Given the description of an element on the screen output the (x, y) to click on. 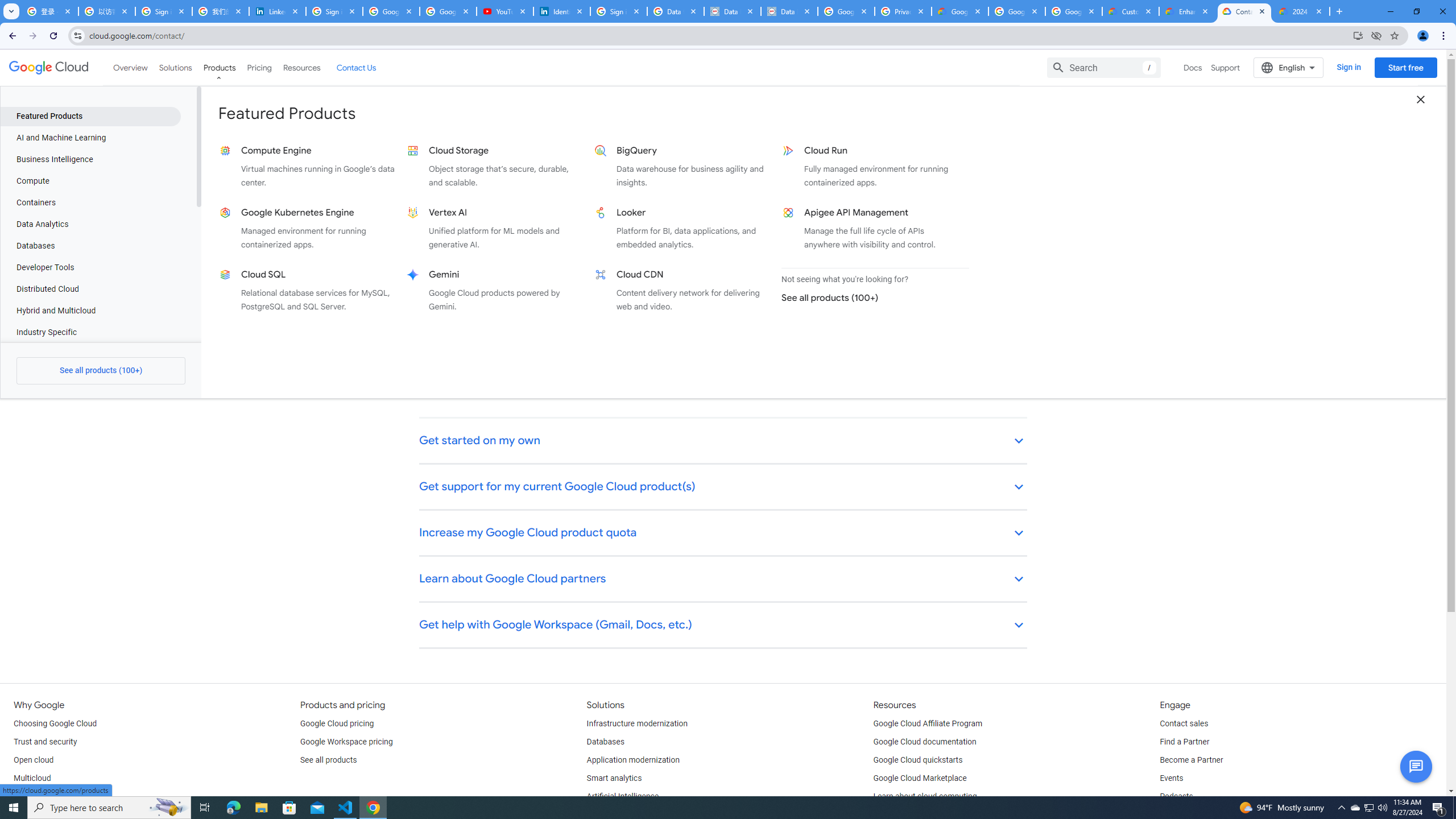
Install Google Cloud (1358, 35)
Data Analytics (90, 224)
Vertex AI Unified platform for ML models and generative AI. (495, 228)
Smart analytics (614, 778)
Docs (1192, 67)
Data Privacy Framework (731, 11)
Find a Google Cloud partner (475, 387)
See all products (100+) (870, 297)
Choosing Google Cloud (55, 723)
Get started on my own keyboard_arrow_down (723, 441)
